Given the description of an element on the screen output the (x, y) to click on. 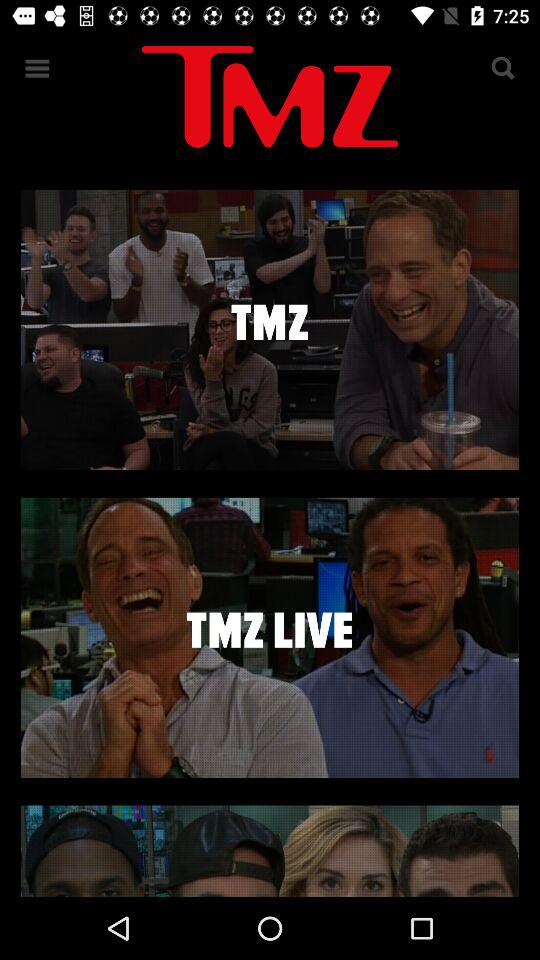
show menu (37, 68)
